Given the description of an element on the screen output the (x, y) to click on. 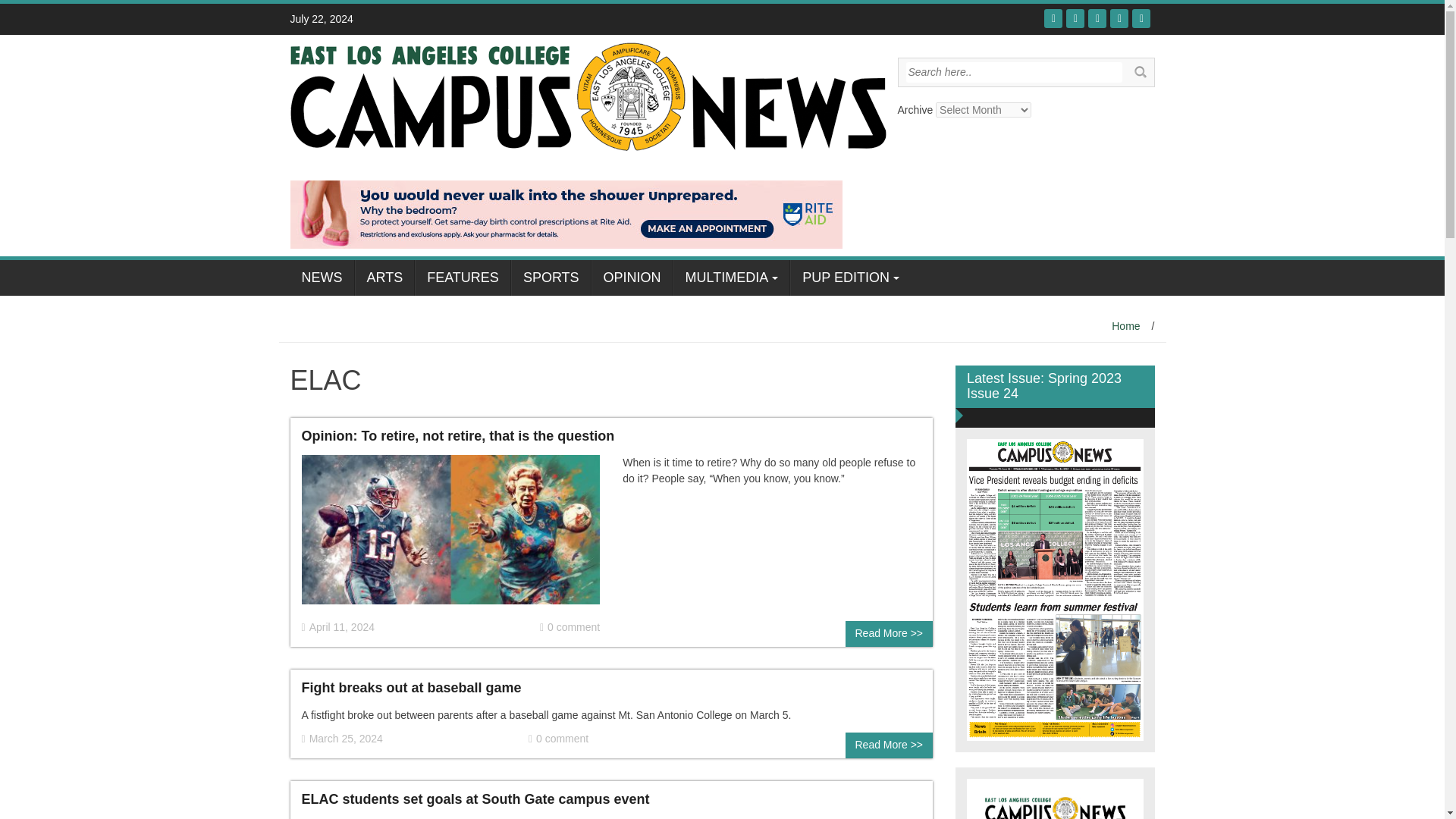
Email (1141, 18)
0 comment (569, 627)
NEWS (321, 277)
Home (1126, 326)
MULTIMEDIA (731, 277)
East Los Angeles College Campus News (587, 95)
0 comment (558, 738)
Fight breaks out at baseball game (411, 687)
FEATURES (462, 277)
Instagram (1118, 18)
Search here.. (1013, 72)
SPORTS (551, 277)
Opinion: To retire, not retire, that is the question (457, 435)
Twitter (1074, 18)
Facebook (1052, 18)
